Given the description of an element on the screen output the (x, y) to click on. 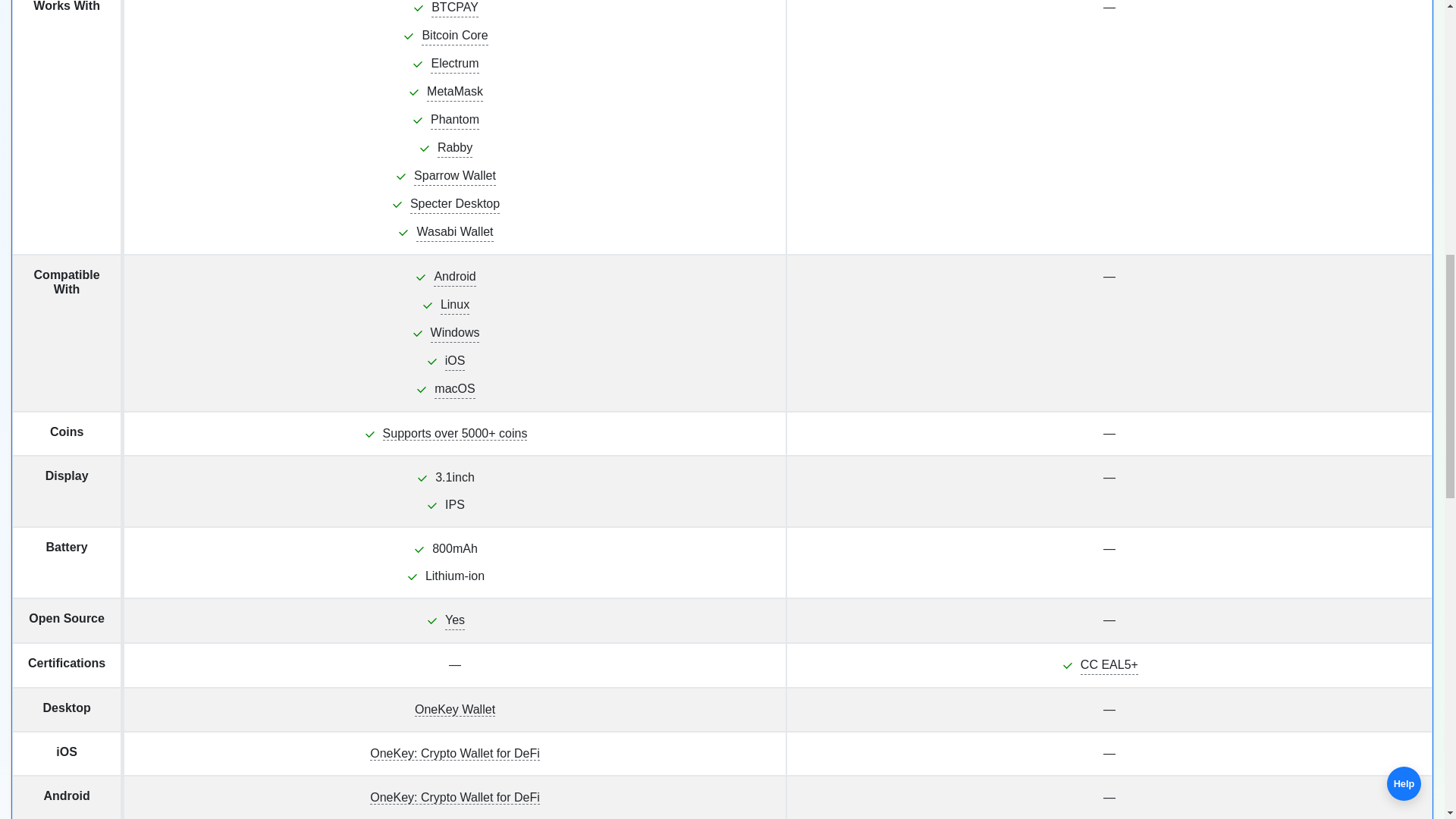
Yes (454, 619)
MetaMask (454, 91)
List of coins supported by OneKey Touch (454, 433)
Android (454, 276)
iOS (455, 361)
Bitcoin Core (454, 35)
Phantom (454, 119)
Sparrow Wallet (454, 176)
Linux (454, 304)
Electrum (454, 63)
Rabby (454, 148)
macOS (453, 389)
Wasabi Wallet (454, 231)
Windows (455, 333)
Specter Desktop (454, 203)
